Given the description of an element on the screen output the (x, y) to click on. 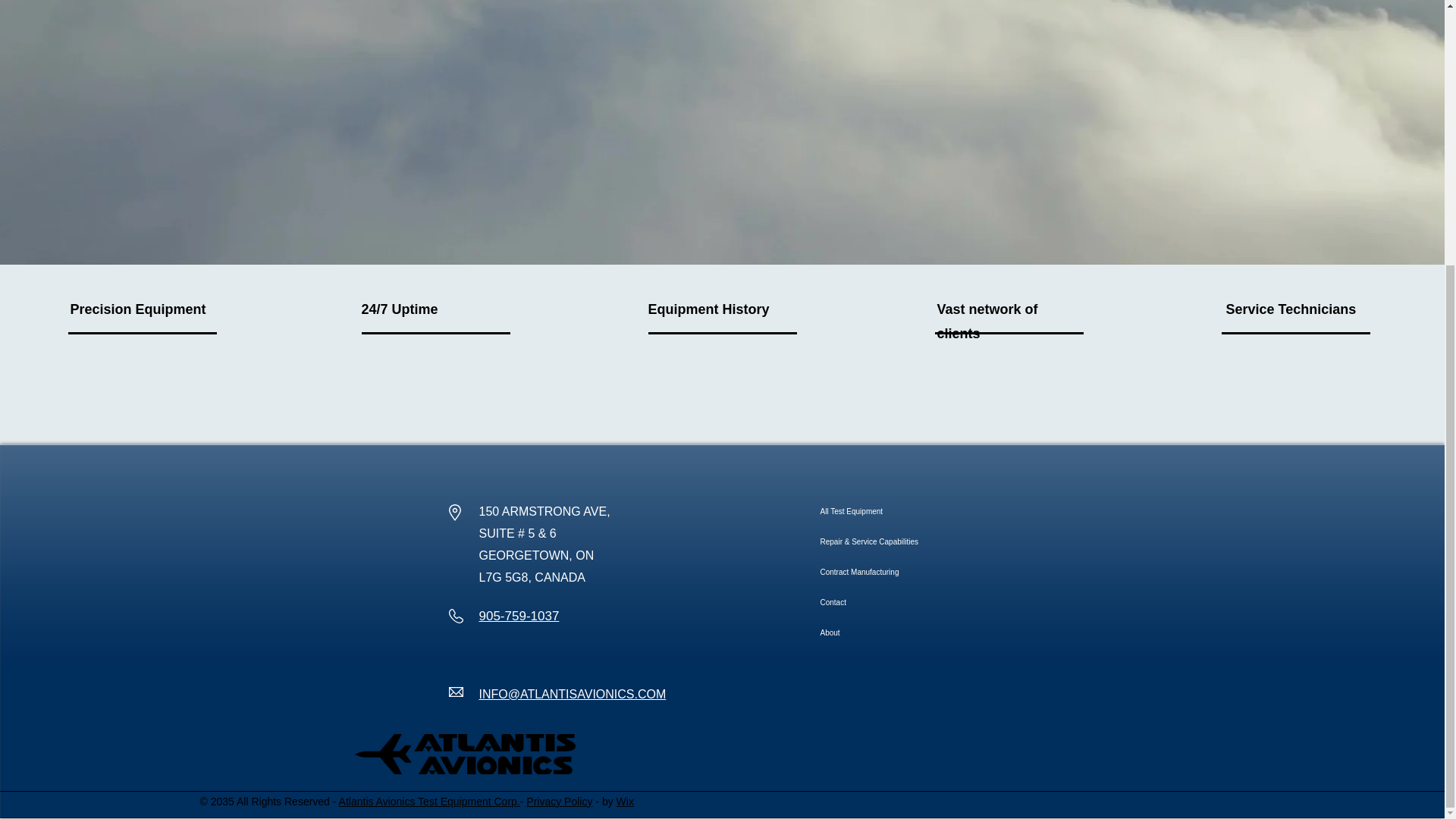
905-759-1037 (519, 616)
Privacy Policy (558, 801)
Contract Manufacturing (914, 572)
About (914, 633)
Atlantis Avionics Test Equipment Corp. (429, 801)
Contact (914, 603)
All Test Equipment (914, 511)
Wix (624, 801)
